Given the description of an element on the screen output the (x, y) to click on. 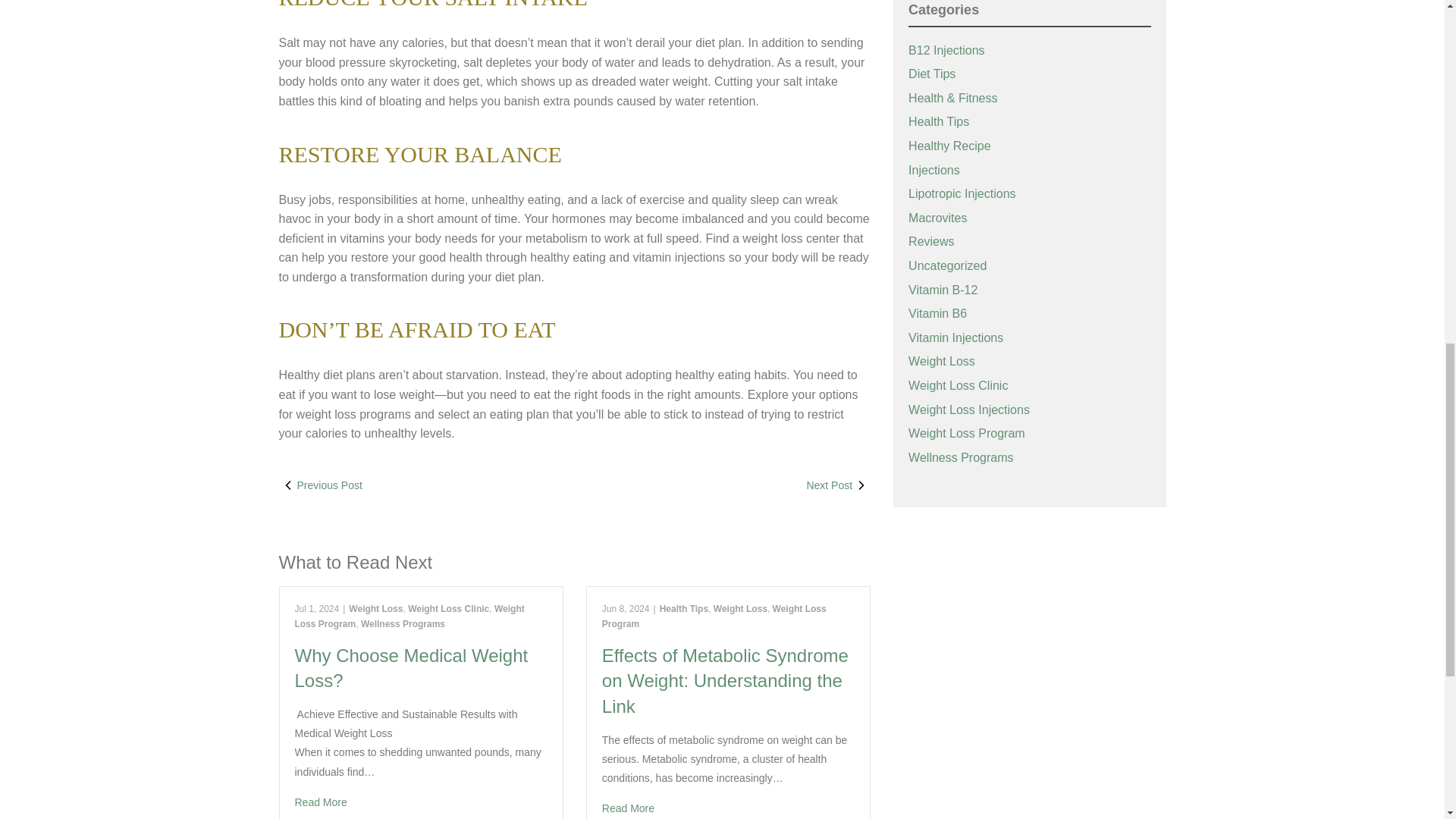
Why Choose Medical Weight Loss? (420, 802)
